Given the description of an element on the screen output the (x, y) to click on. 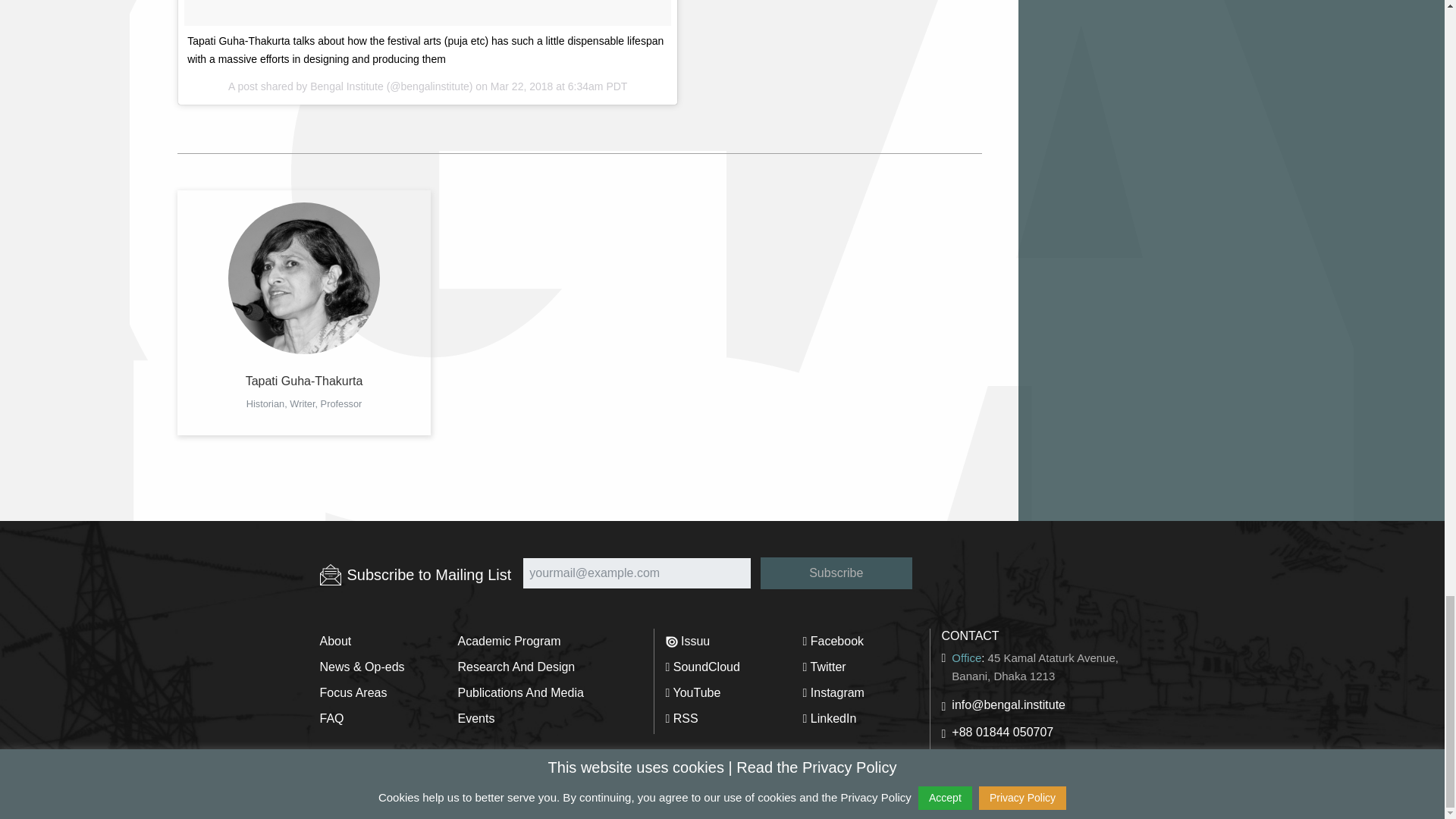
Subscribe (836, 572)
Bengal Institute (347, 86)
